Given the description of an element on the screen output the (x, y) to click on. 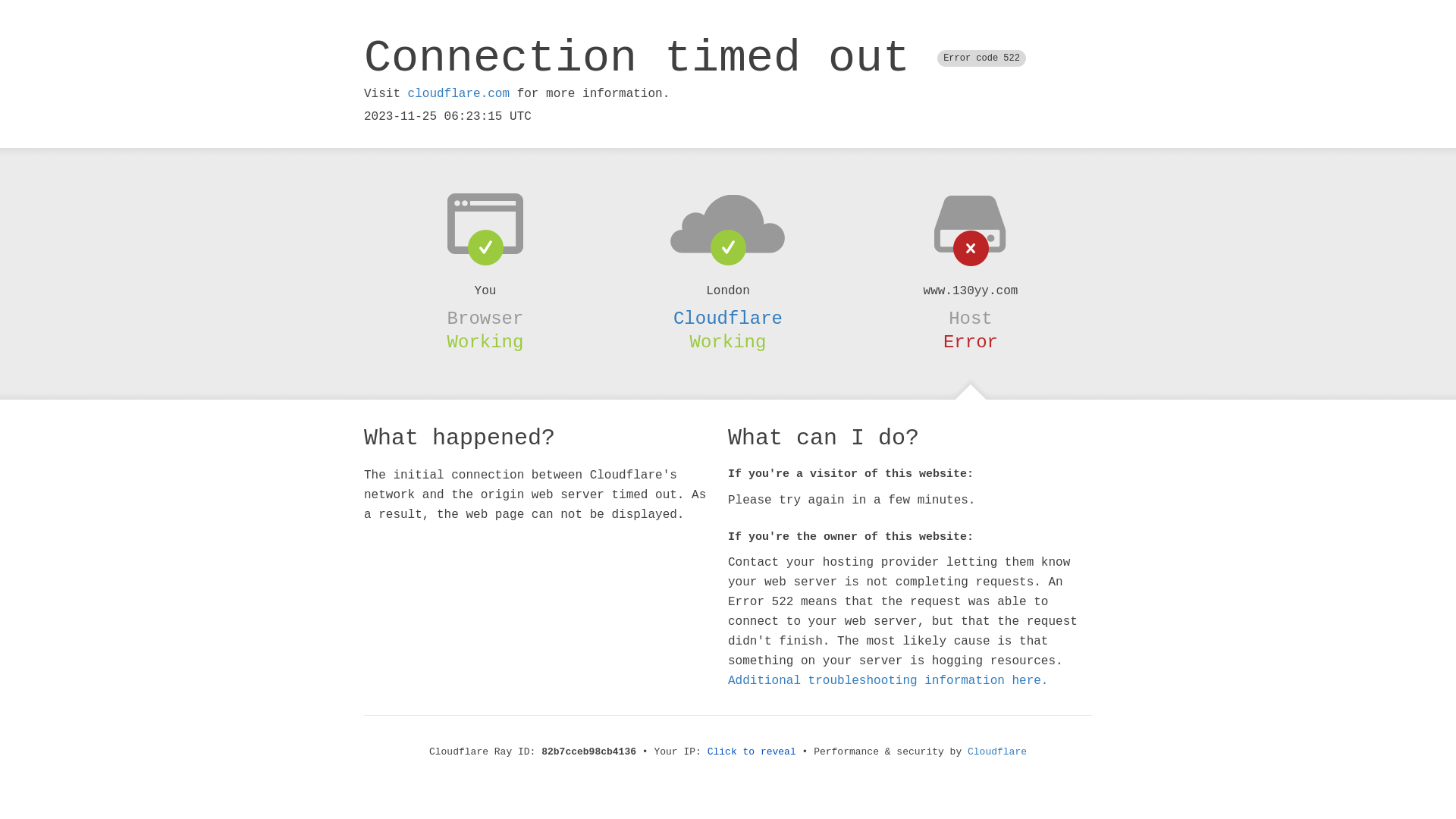
Cloudflare Element type: text (996, 751)
cloudflare.com Element type: text (458, 93)
Cloudflare Element type: text (727, 318)
Additional troubleshooting information here. Element type: text (888, 680)
Click to reveal Element type: text (751, 751)
